Given the description of an element on the screen output the (x, y) to click on. 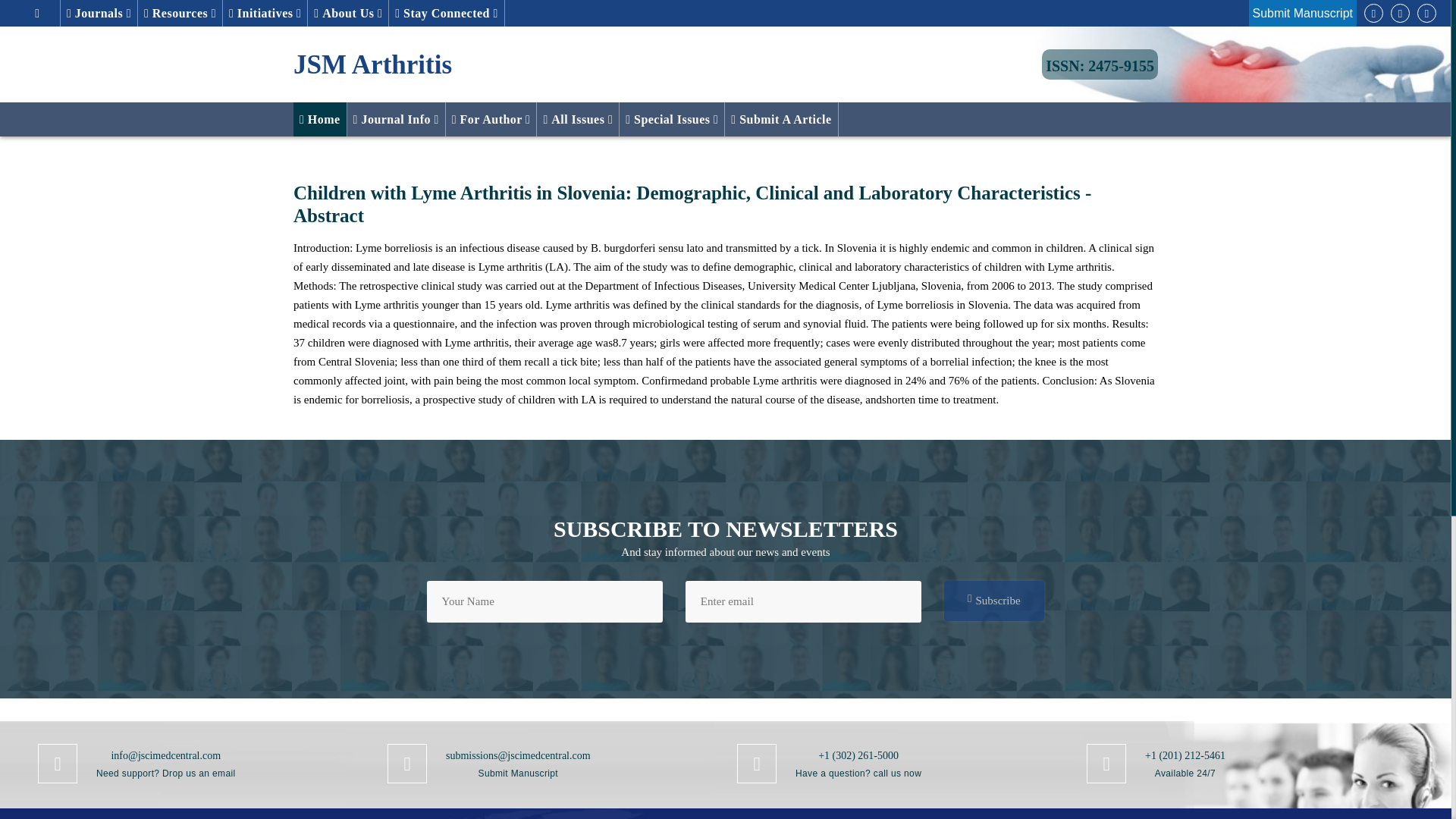
JSciMed (1099, 64)
Journals (98, 13)
Resources (180, 13)
